Given the description of an element on the screen output the (x, y) to click on. 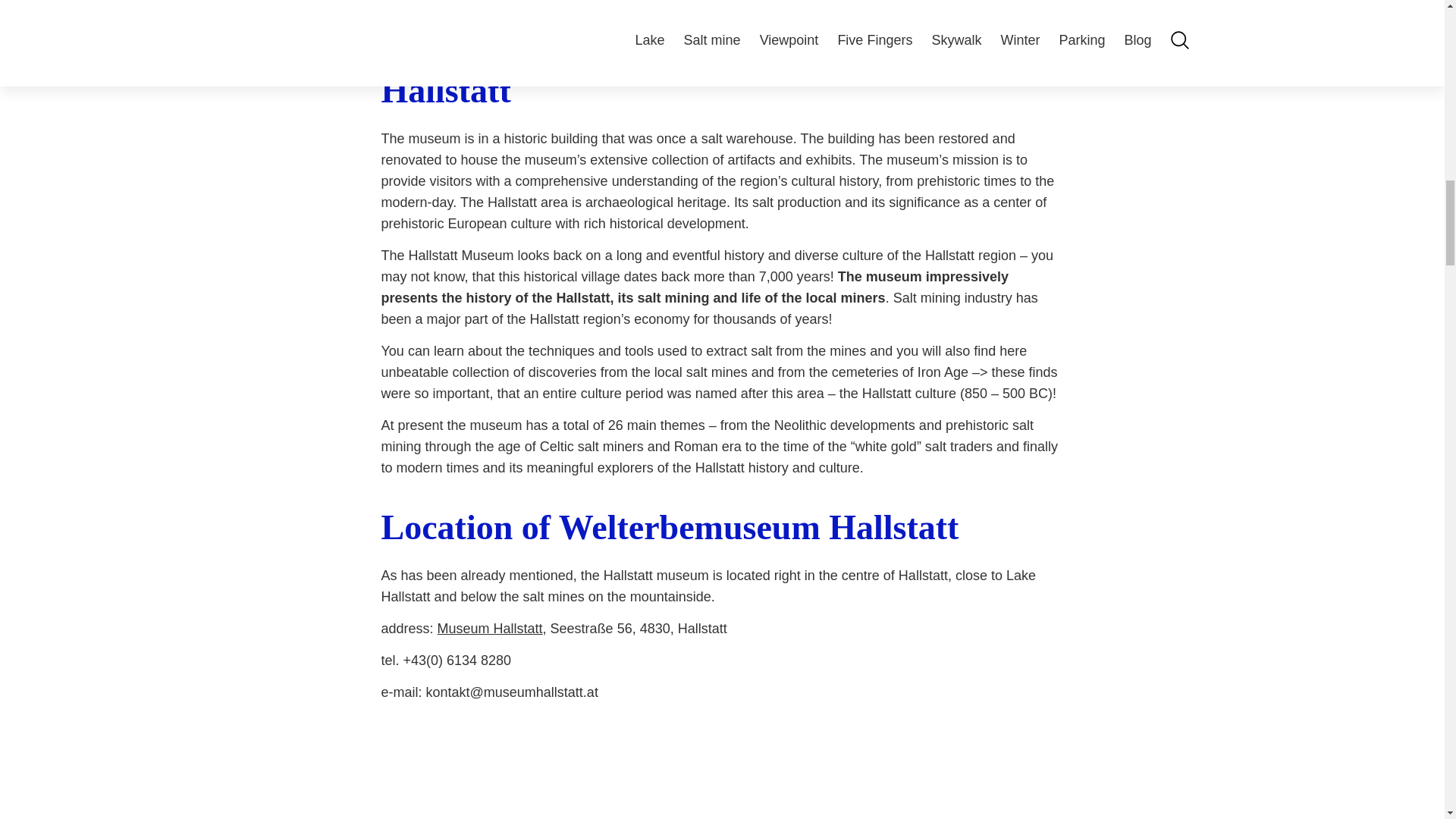
Museum Hallstatt (490, 628)
